Given the description of an element on the screen output the (x, y) to click on. 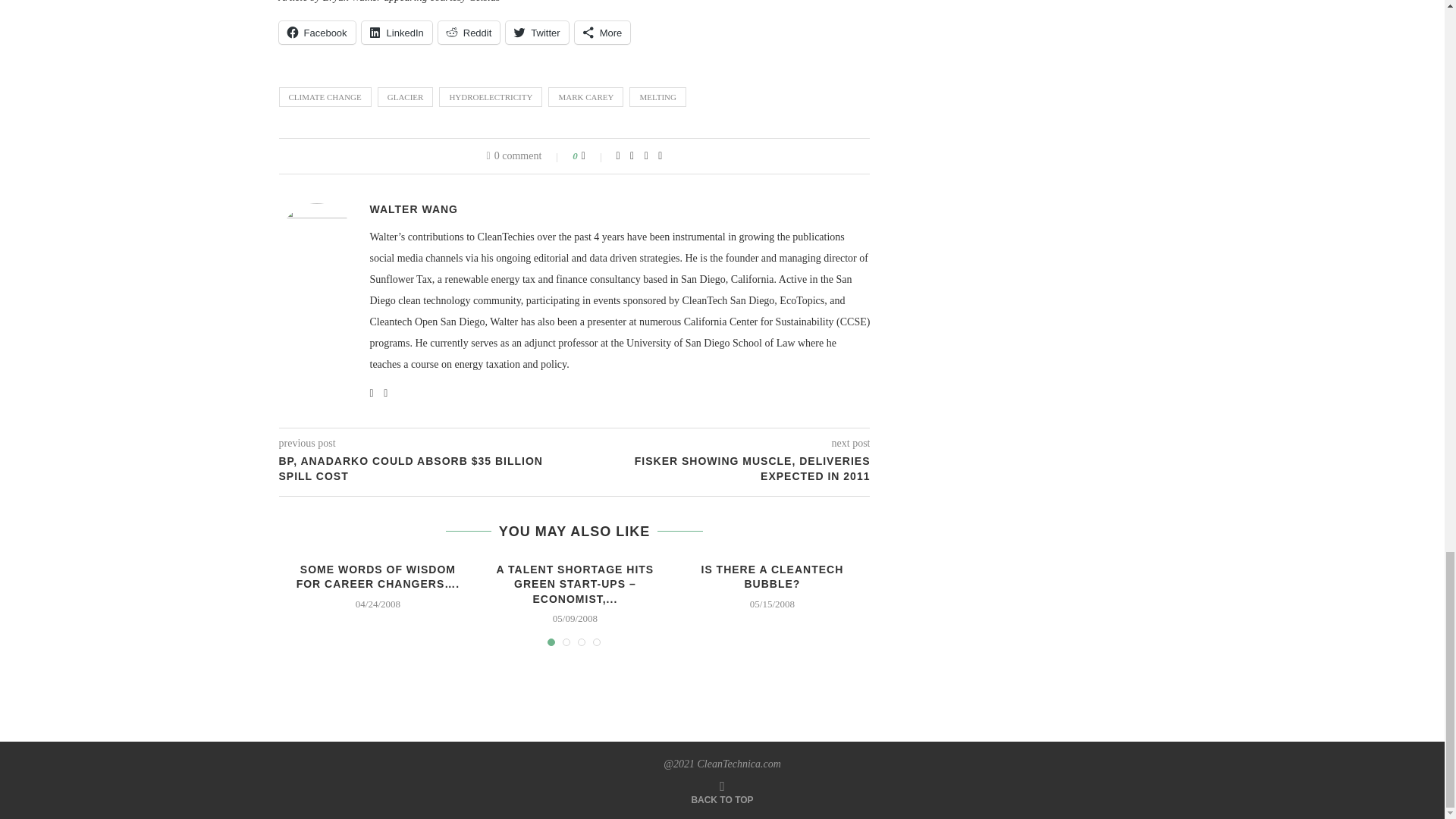
Click to share on Twitter (536, 32)
CLIMATE CHANGE (325, 96)
FISKER SHOWING MUSCLE, DELIVERIES EXPECTED IN 2011 (722, 469)
Click to share on Facebook (317, 32)
MARK CAREY (585, 96)
More (602, 32)
Like (592, 155)
Click to share on Reddit (469, 32)
Posts by Walter Wang (413, 209)
LinkedIn (396, 32)
